Given the description of an element on the screen output the (x, y) to click on. 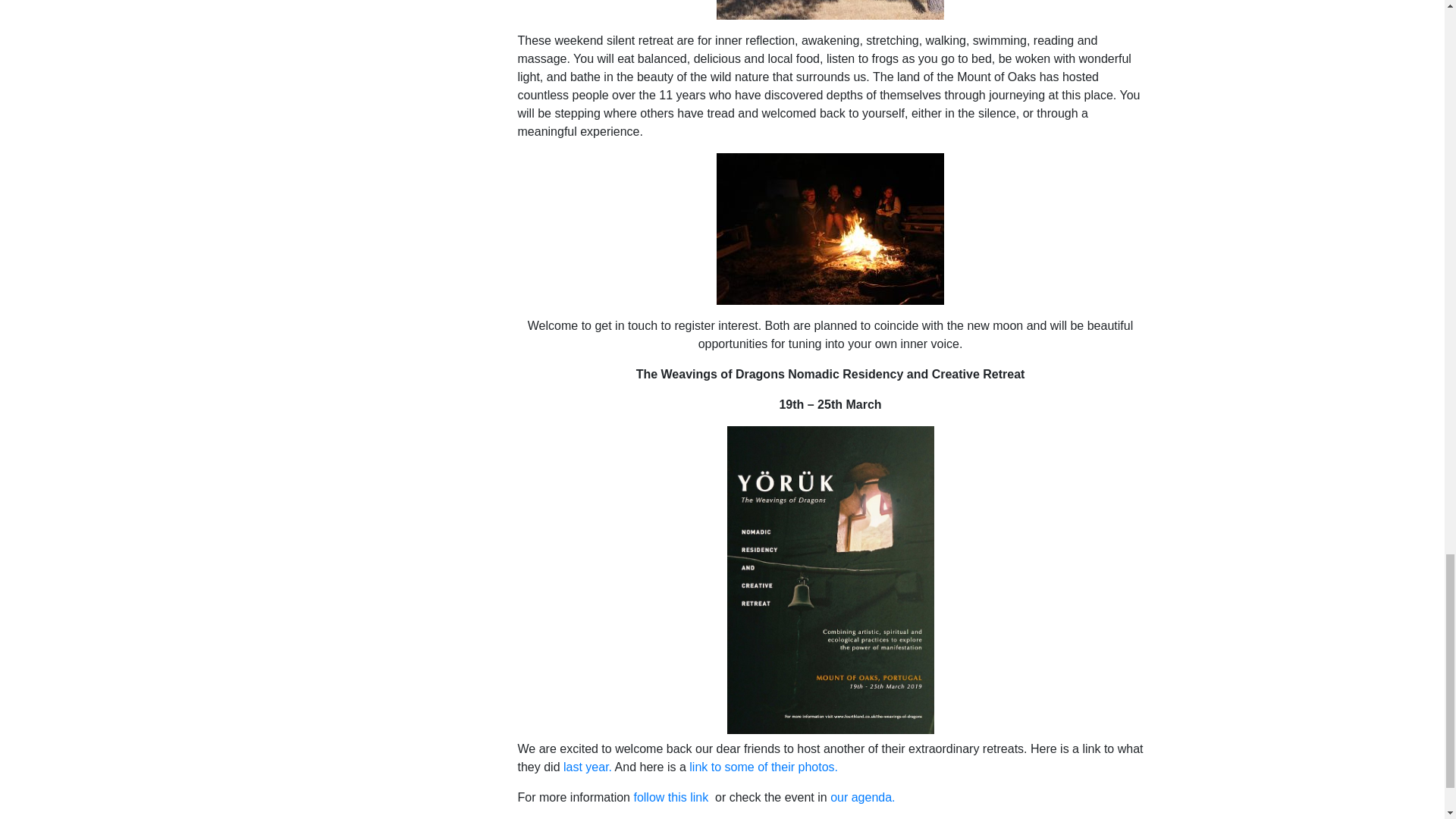
last year. (587, 766)
follow this link  (672, 797)
link to some of their photos. (763, 766)
our agenda. (862, 797)
